Given the description of an element on the screen output the (x, y) to click on. 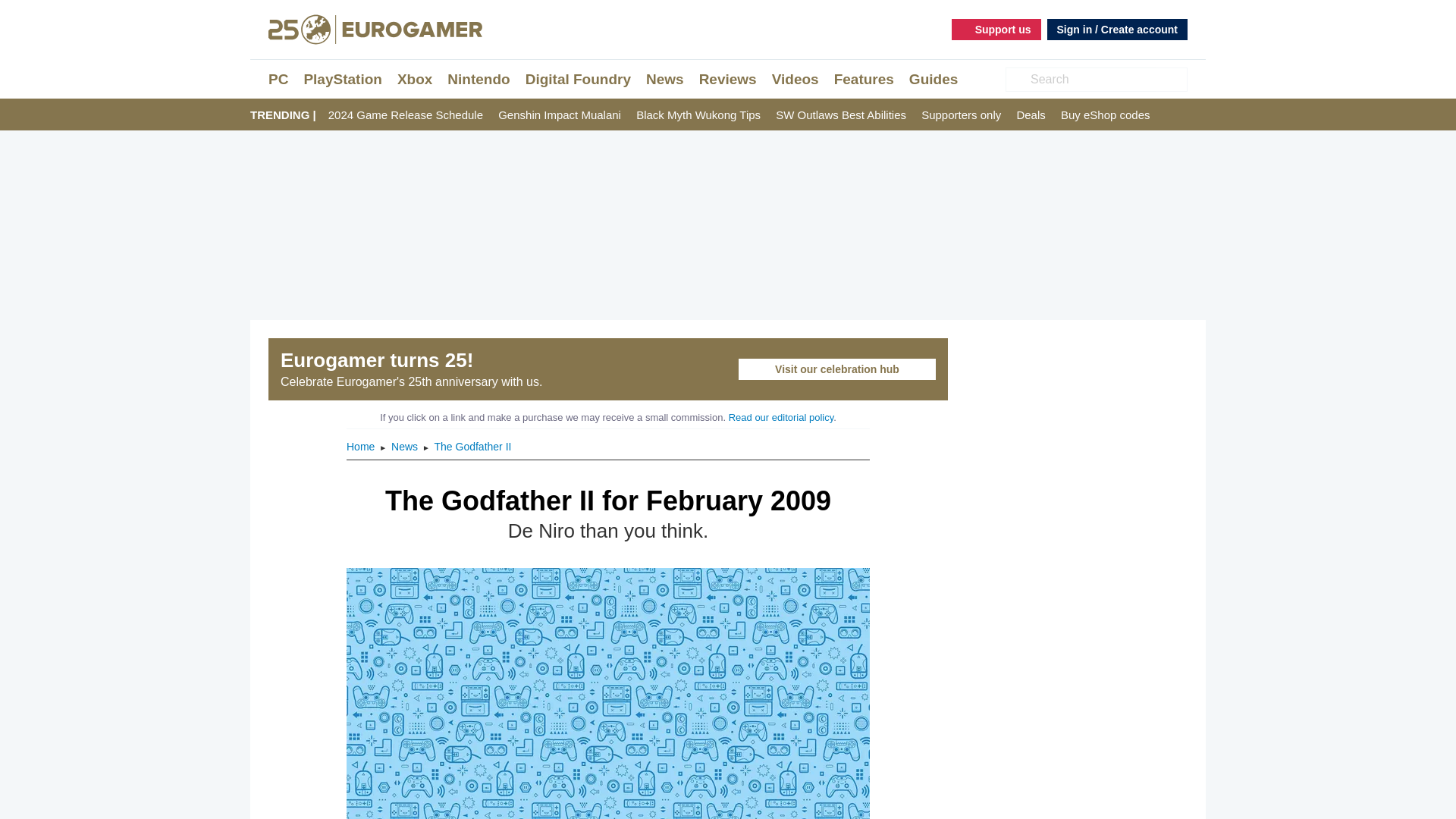
Features (863, 78)
Nintendo (477, 78)
Xbox (414, 78)
PlayStation (341, 78)
2024 Game Release Schedule (406, 114)
Digital Foundry (577, 78)
Black Myth Wukong Tips (698, 114)
Genshin Impact Mualani (559, 114)
Supporters only (961, 114)
Black Myth Wukong Tips (698, 114)
